Given the description of an element on the screen output the (x, y) to click on. 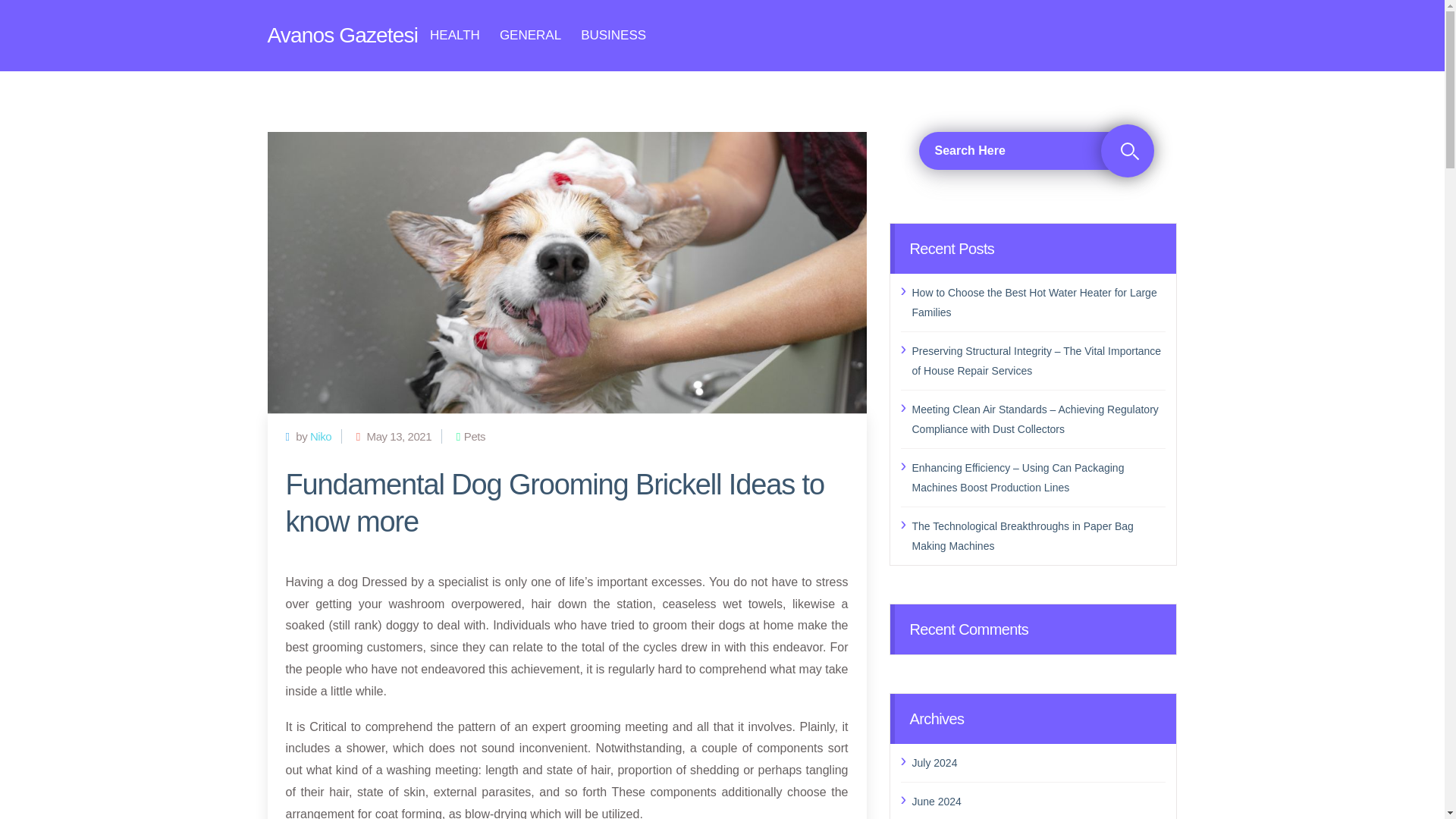
June 2024 (1038, 801)
BUSINESS (613, 35)
GENERAL (529, 35)
HEALTH (454, 35)
How to Choose the Best Hot Water Heater for Large Families (1038, 301)
July 2024 (1038, 762)
The Technological Breakthroughs in Paper Bag Making Machines (1038, 535)
Avanos Gazetesi (341, 35)
Niko (320, 436)
